Given the description of an element on the screen output the (x, y) to click on. 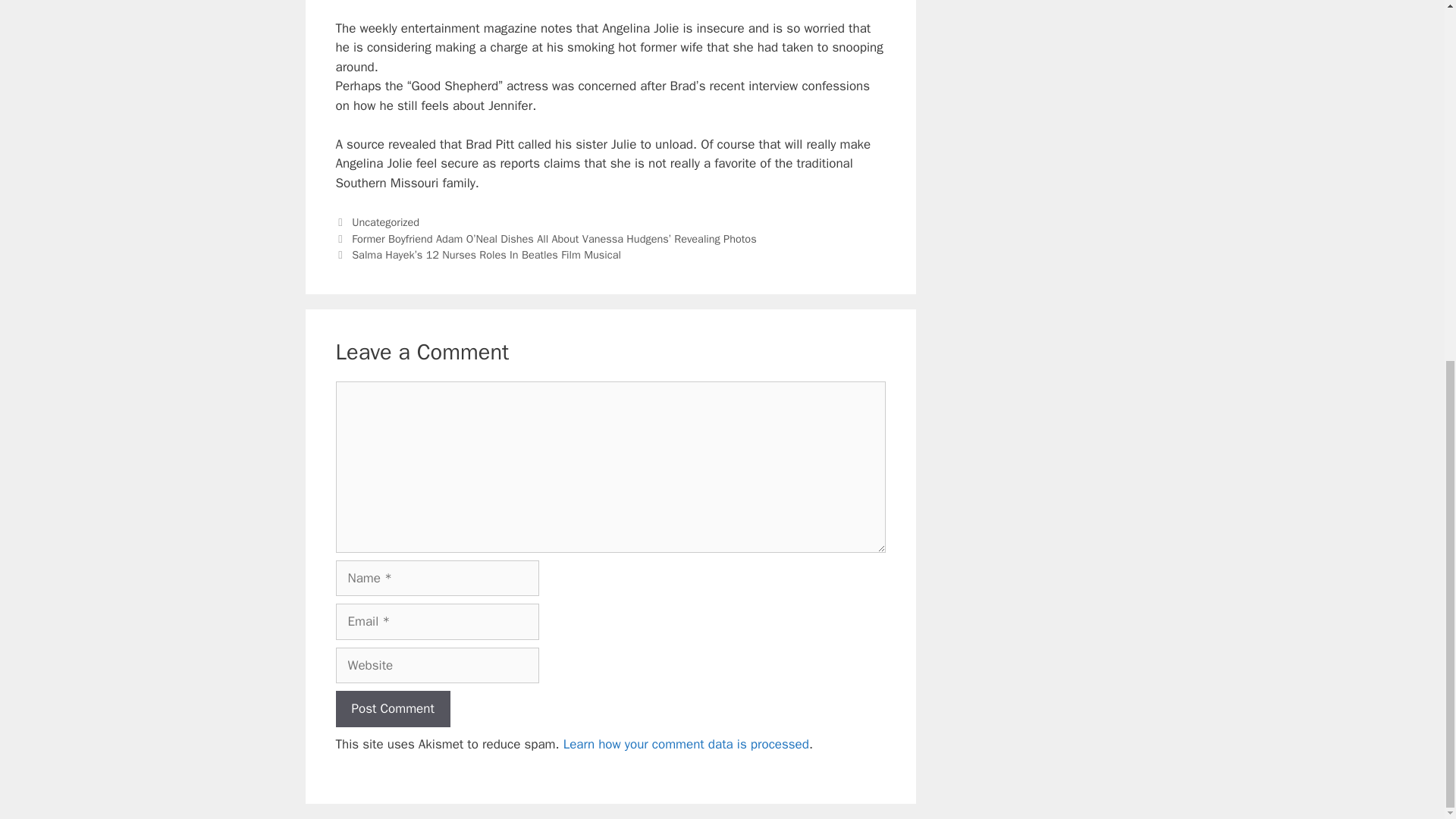
Post Comment (391, 709)
Learn how your comment data is processed (686, 744)
Uncategorized (385, 222)
Post Comment (391, 709)
